Given the description of an element on the screen output the (x, y) to click on. 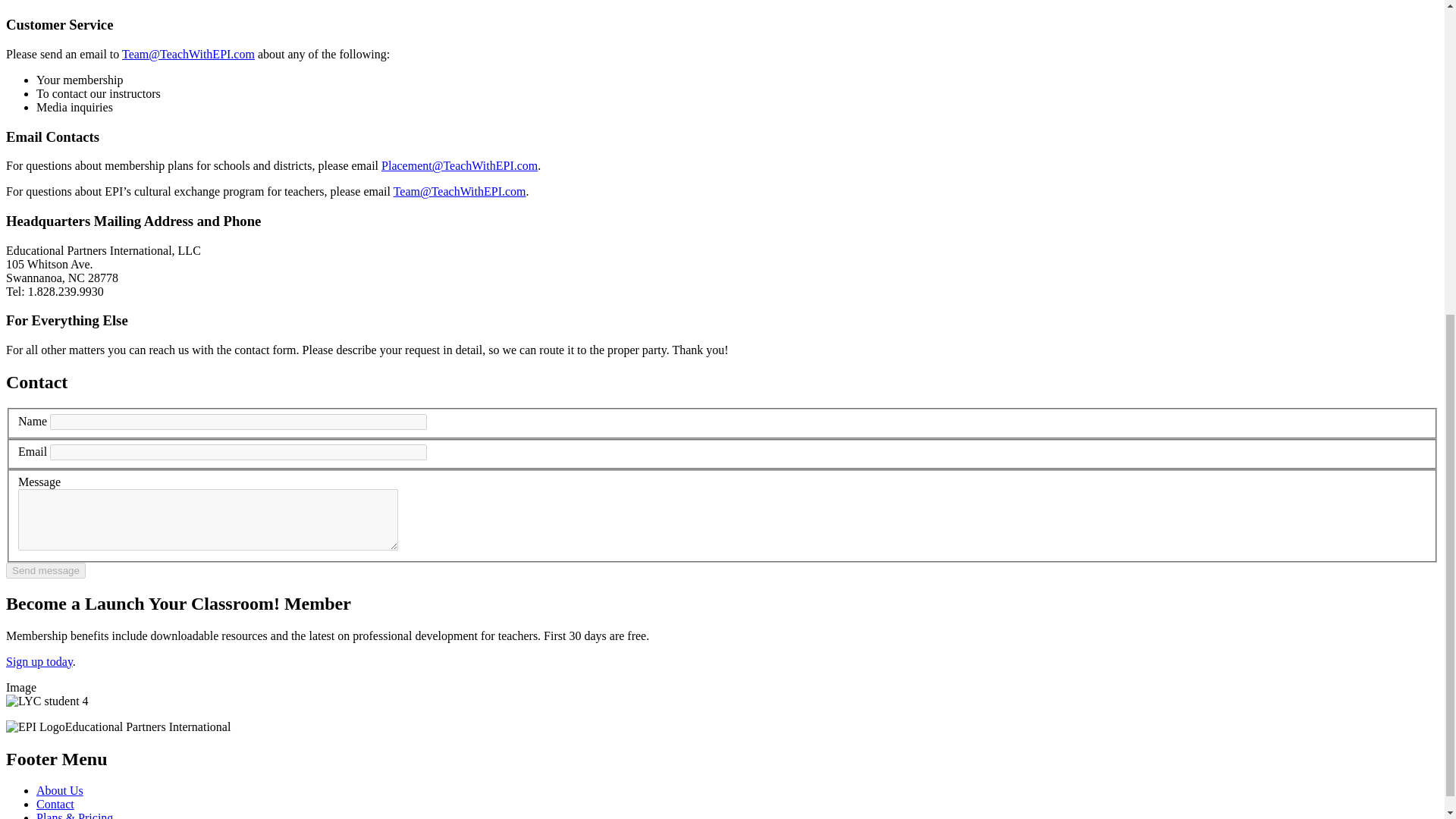
About Us (59, 789)
Send message (45, 570)
Contact (55, 803)
Sign up today (38, 661)
